Given the description of an element on the screen output the (x, y) to click on. 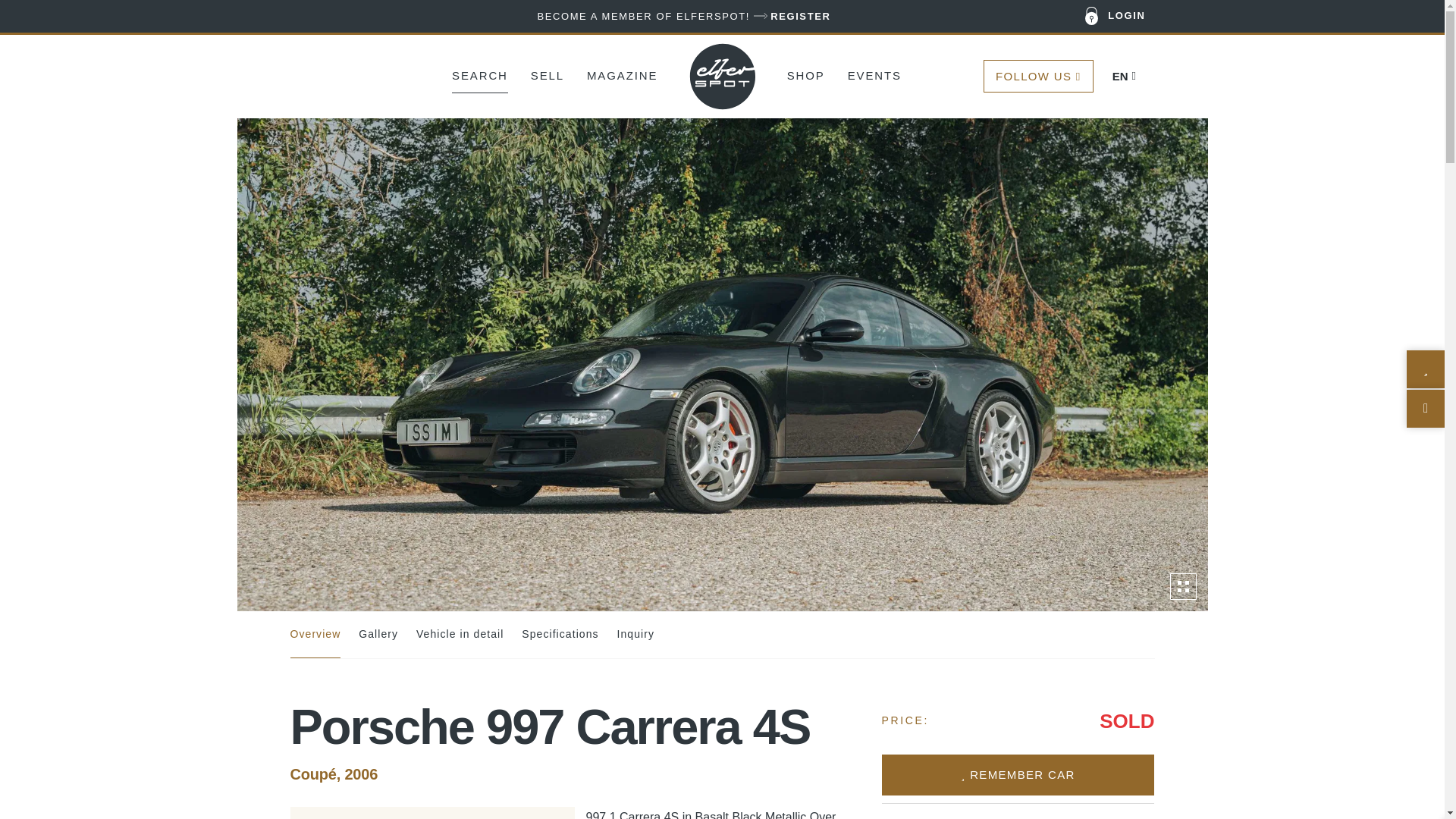
Magazine (622, 74)
BECOME A MEMBER OF ELFERSPOT! REGISTER (683, 15)
LOGIN (1115, 16)
SHOP (806, 74)
Elferspot (722, 76)
MAGAZINE (622, 74)
SELL (547, 74)
Shop (806, 74)
Events (874, 74)
Search (479, 74)
